Given the description of an element on the screen output the (x, y) to click on. 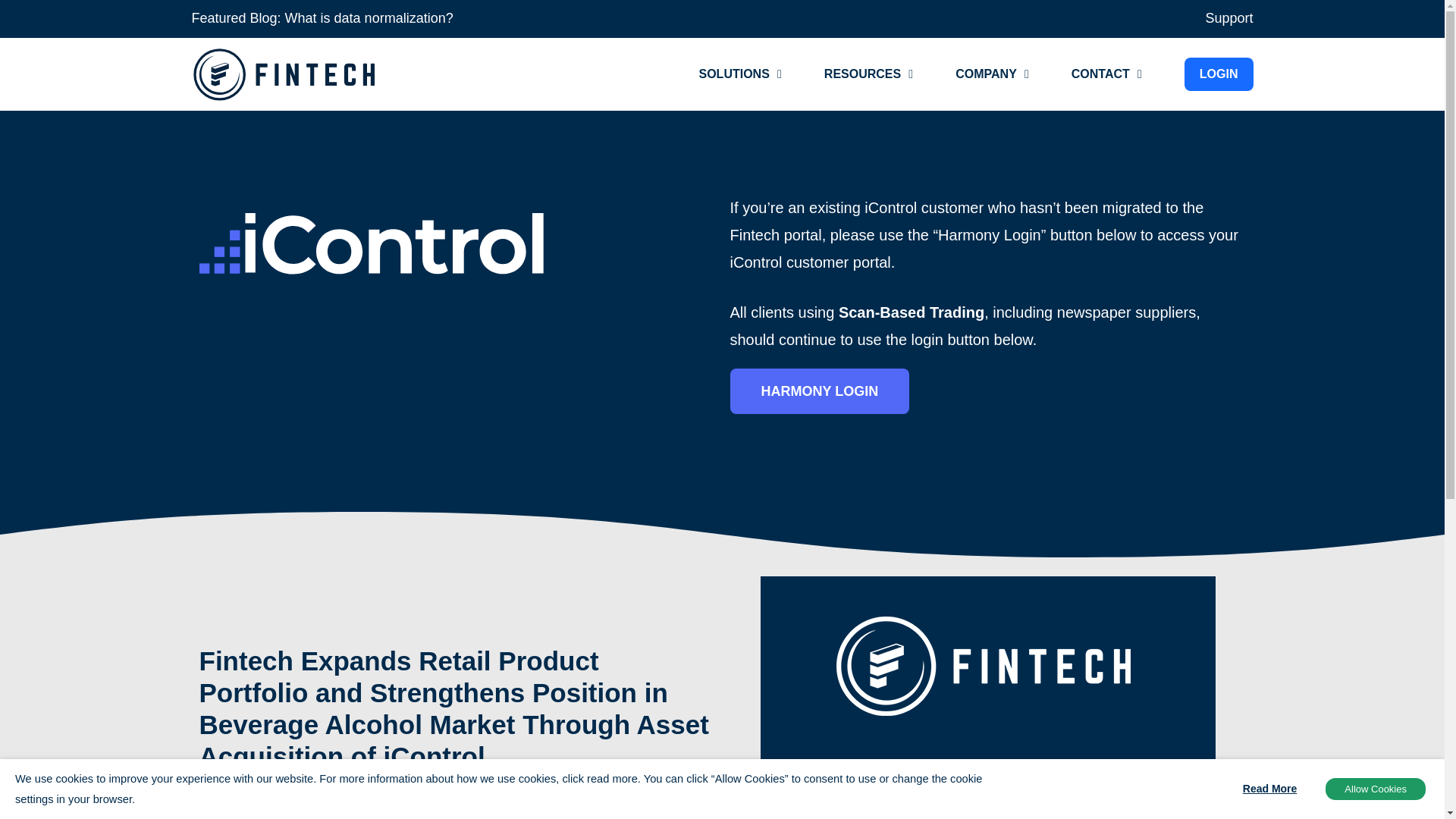
COMPANY (985, 74)
READ PRESS RELEASE (307, 803)
HARMONY LOGIN (818, 391)
RESOURCES (862, 74)
Fintech-Logo (285, 73)
CONTACT (1100, 74)
Support (1228, 17)
LOGIN (1219, 73)
Featured Blog: What is data normalization? (321, 17)
SOLUTIONS (734, 74)
